Given the description of an element on the screen output the (x, y) to click on. 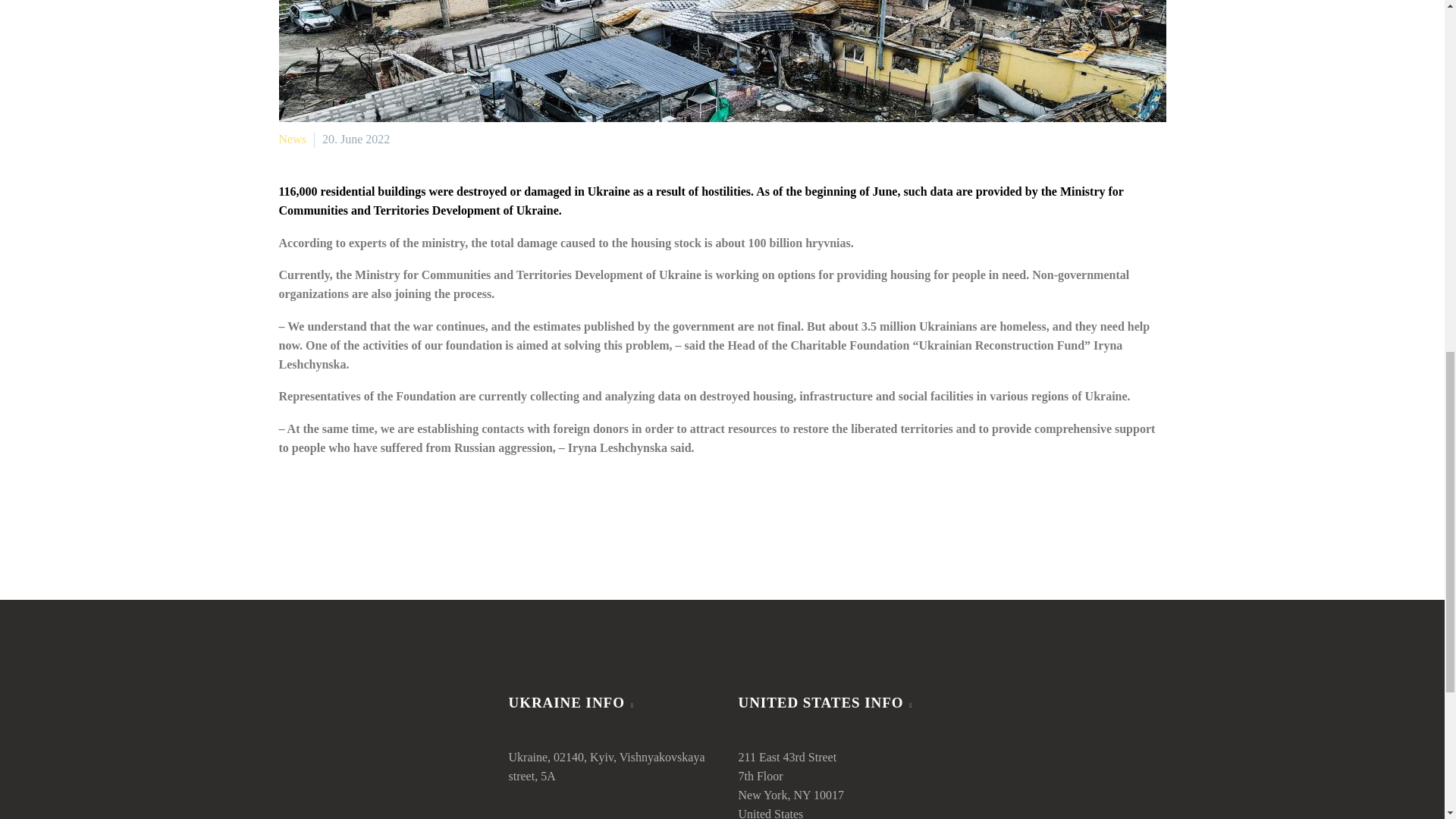
View all posts in News (292, 138)
News (292, 138)
